Given the description of an element on the screen output the (x, y) to click on. 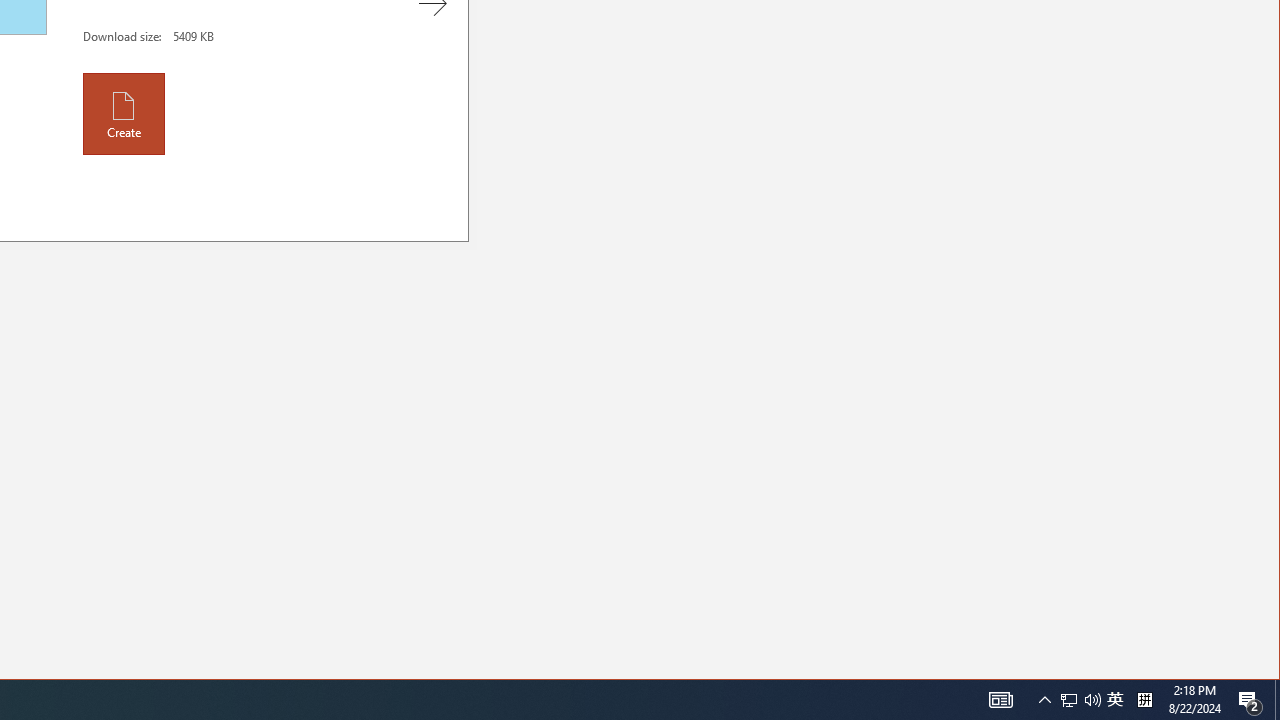
Create (124, 113)
